Given the description of an element on the screen output the (x, y) to click on. 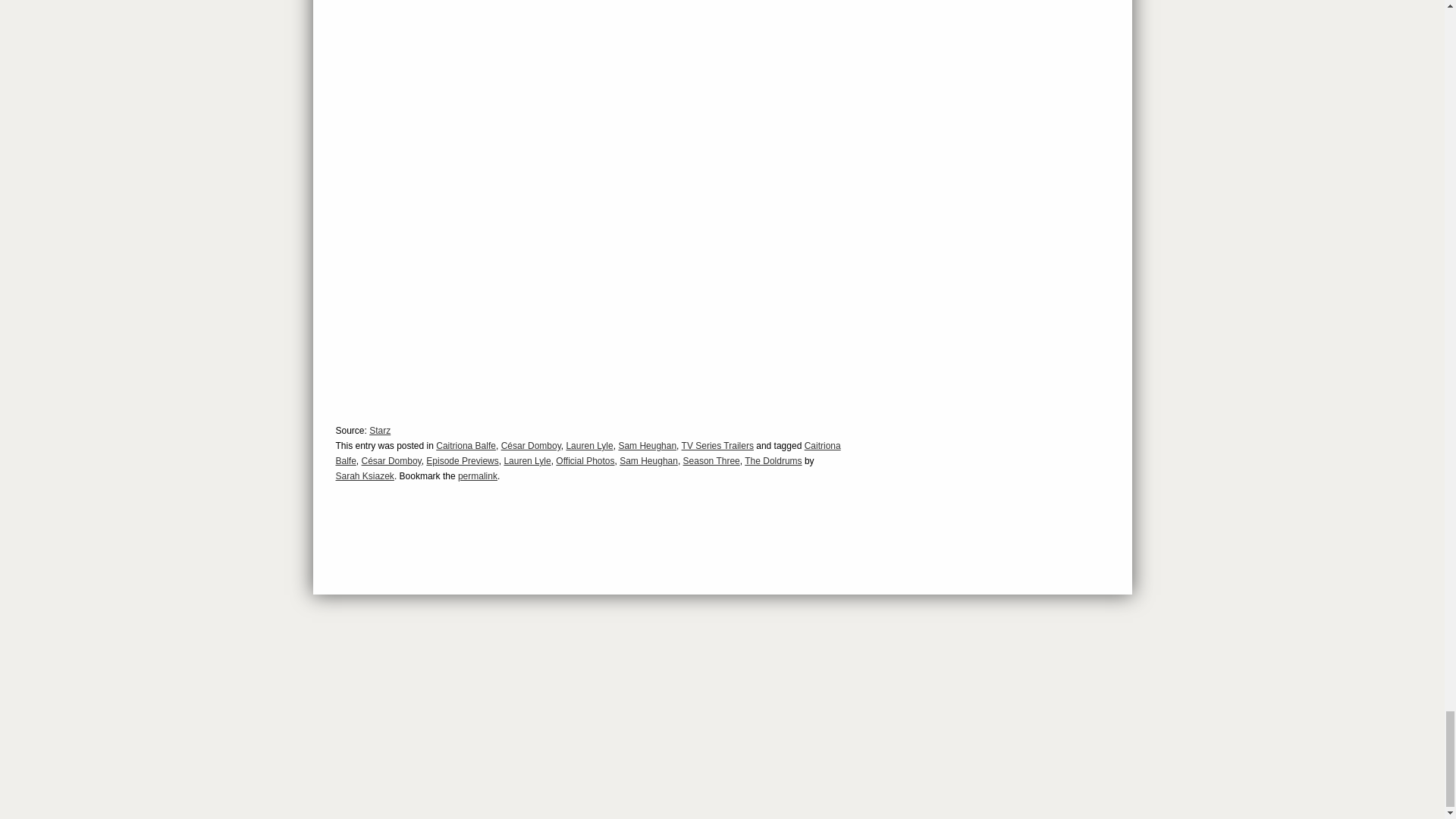
Caitriona Balfe (587, 453)
Lauren Lyle (589, 445)
Caitriona Balfe (465, 445)
Starz (379, 430)
TV Series Trailers (717, 445)
Sam Heughan (647, 445)
